Given the description of an element on the screen output the (x, y) to click on. 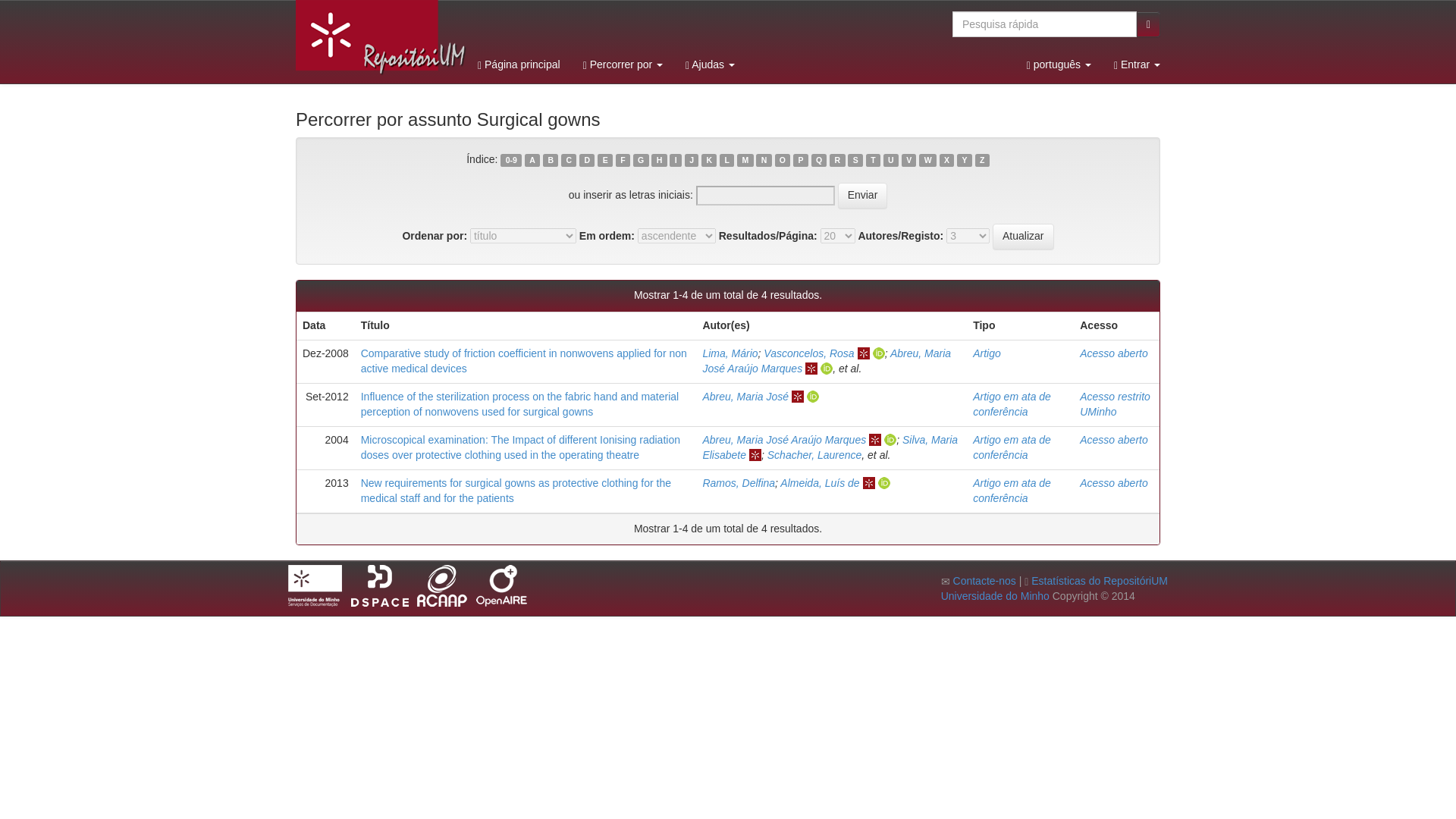
E (604, 160)
D (586, 160)
B (550, 160)
0-9 (510, 160)
Entrar (1137, 64)
Ajudas (709, 64)
Atualizar (1022, 236)
Percorrer por (623, 64)
A (532, 160)
Enviar (863, 195)
C (568, 160)
